Given the description of an element on the screen output the (x, y) to click on. 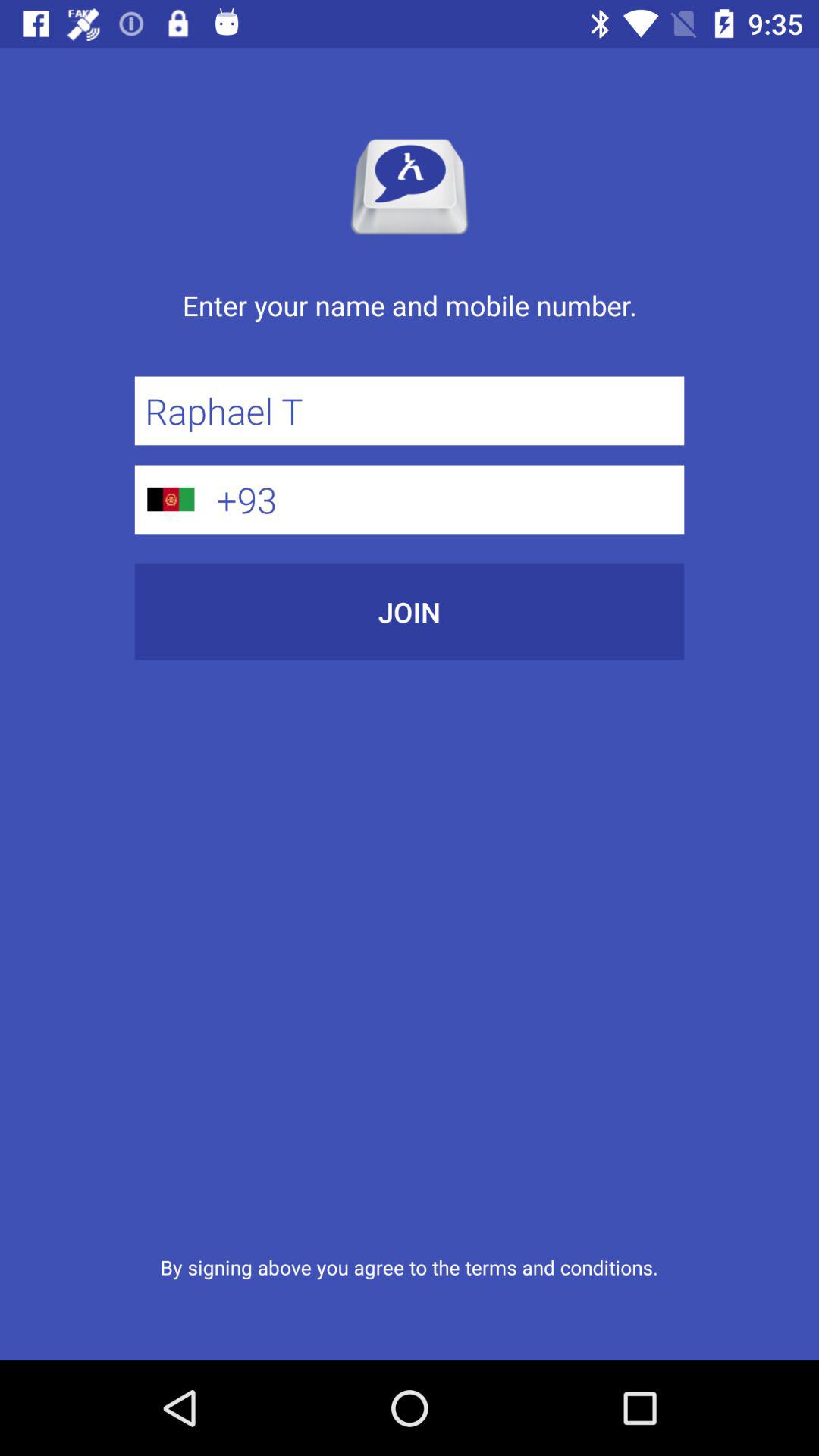
launch the icon below the enter your name icon (409, 410)
